Given the description of an element on the screen output the (x, y) to click on. 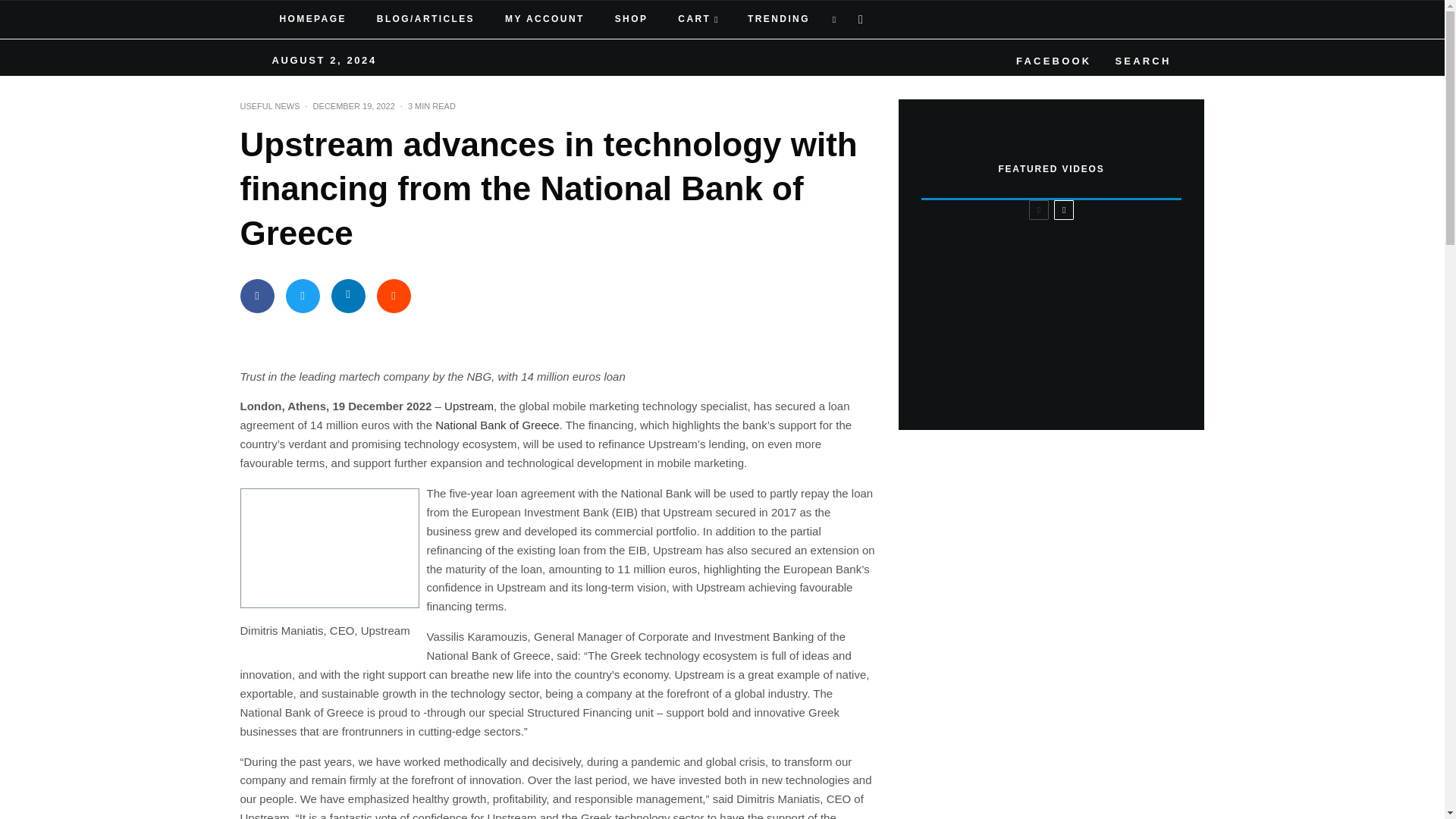
Upstream (468, 405)
Dimitris Maniatis, CEO, Upstream (329, 548)
FACEBOOK (1050, 57)
MY ACCOUNT (544, 19)
SHOP (631, 19)
CART (698, 19)
TRENDING (776, 19)
SEARCH (1139, 57)
HOMEPAGE (312, 19)
USEFUL NEWS (269, 106)
National Bank of Greece (497, 424)
